Given the description of an element on the screen output the (x, y) to click on. 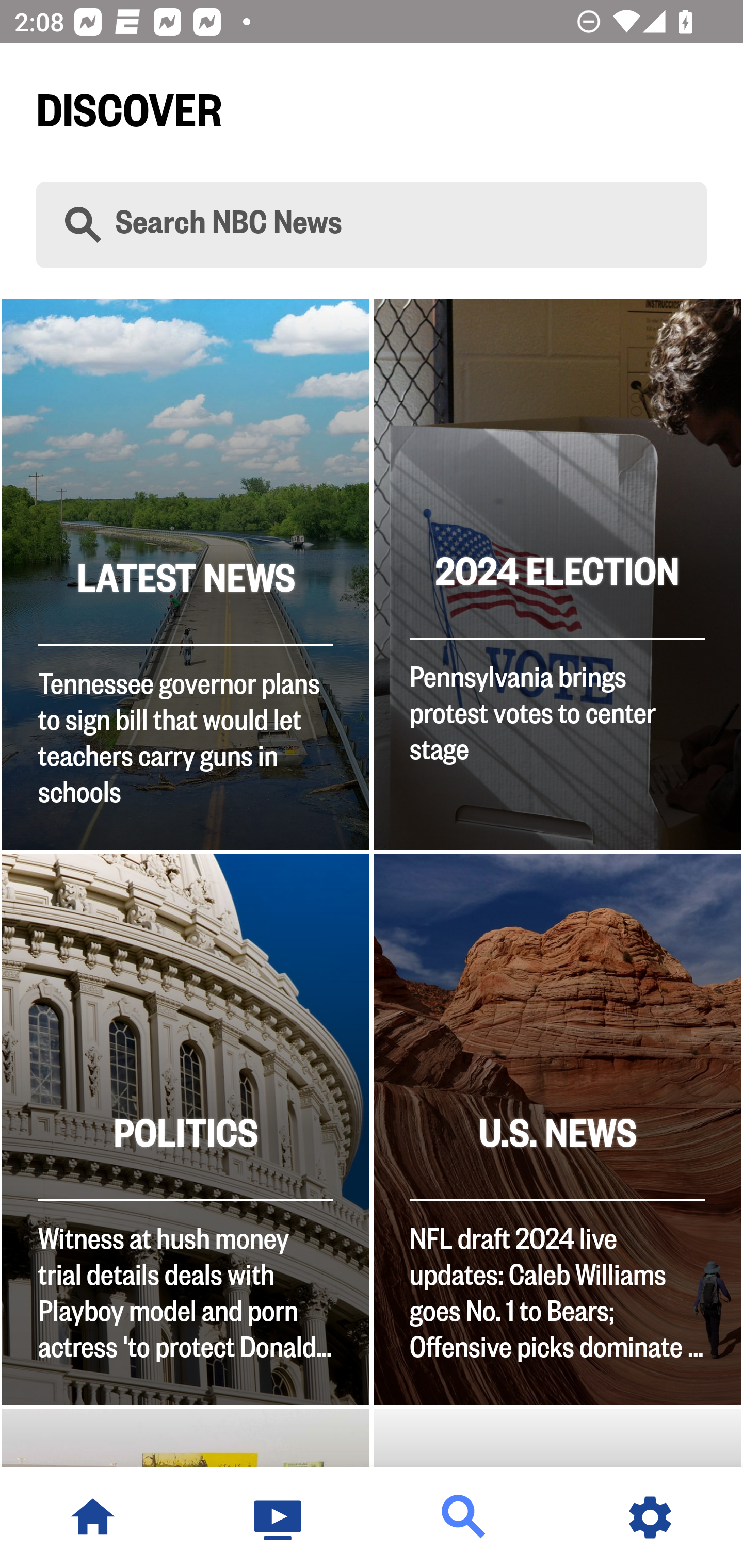
NBC News Home (92, 1517)
Watch (278, 1517)
Settings (650, 1517)
